Given the description of an element on the screen output the (x, y) to click on. 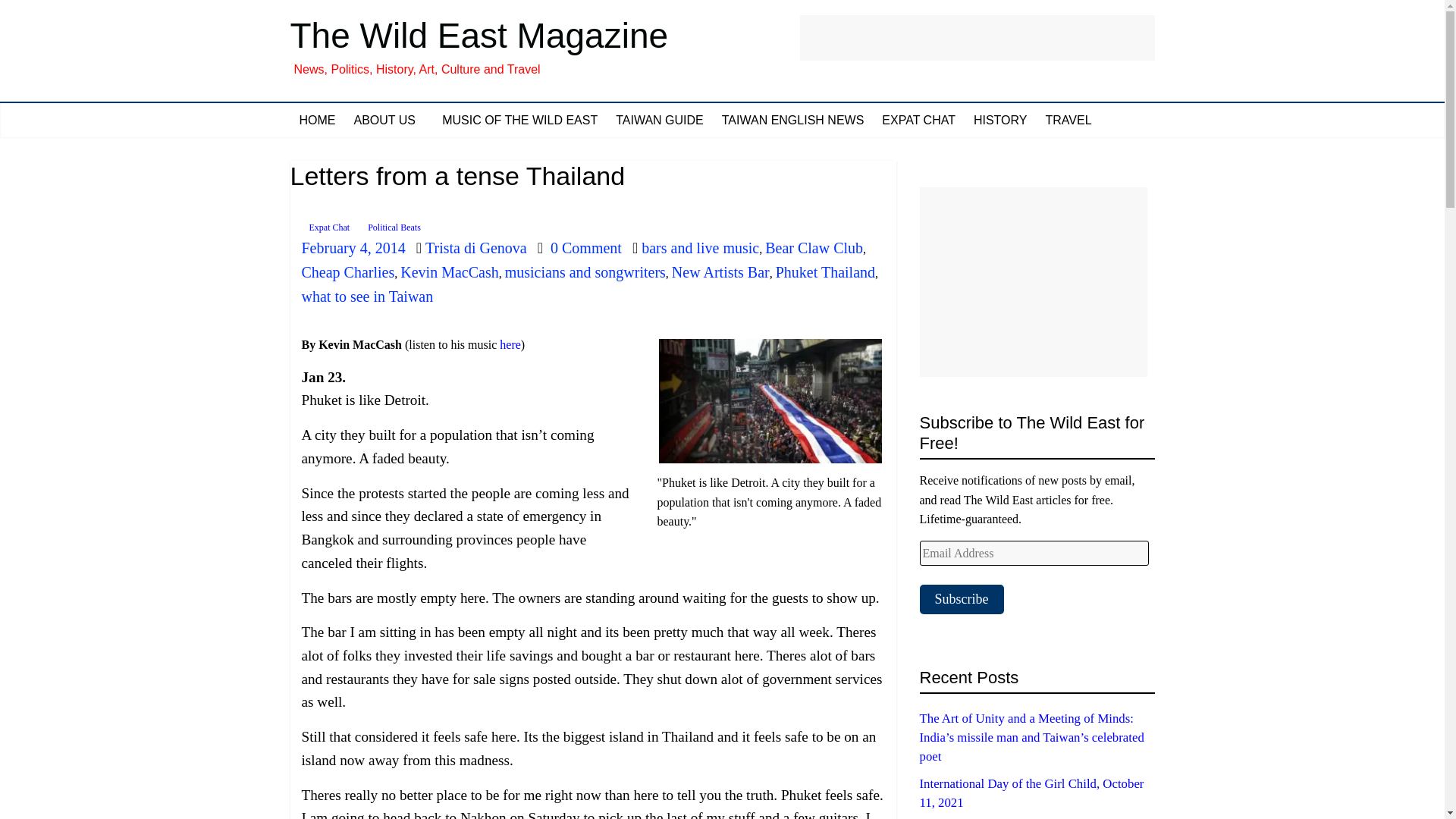
HOME (316, 120)
Thailand protests - Kevin MacCash (770, 401)
TAIWAN ENGLISH NEWS (793, 120)
Articles about history and historical locations (999, 120)
The Wild East Magazine (478, 35)
Subscribe (960, 599)
Expat Chat (329, 227)
Political Beats (393, 227)
Independent News in a Free and Democratic Nation (793, 120)
HISTORY (999, 120)
Kevin MacCash (448, 271)
Advertisement (976, 37)
Cheap Charlies (347, 271)
bars and live music (700, 247)
New Artists Bar (720, 271)
